Given the description of an element on the screen output the (x, y) to click on. 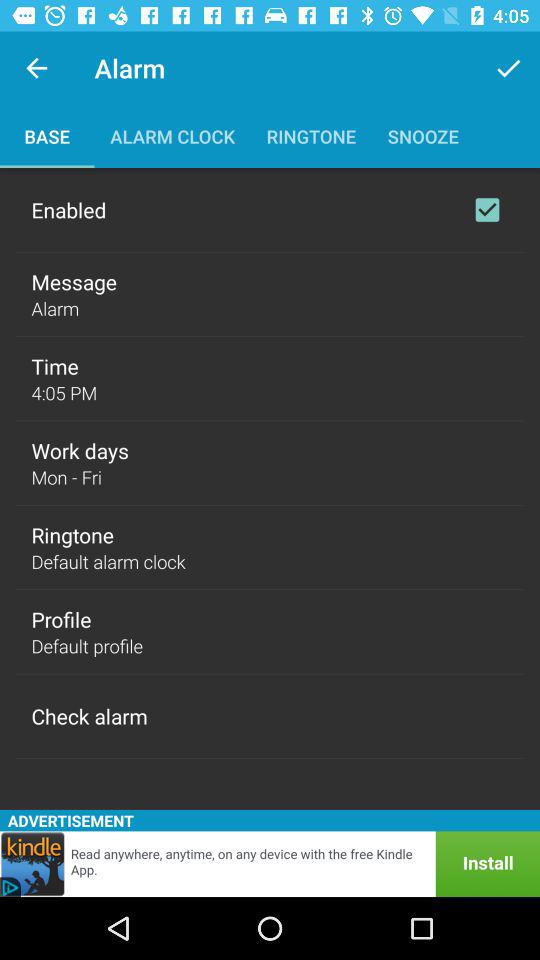
toggle enabled option (487, 210)
